Given the description of an element on the screen output the (x, y) to click on. 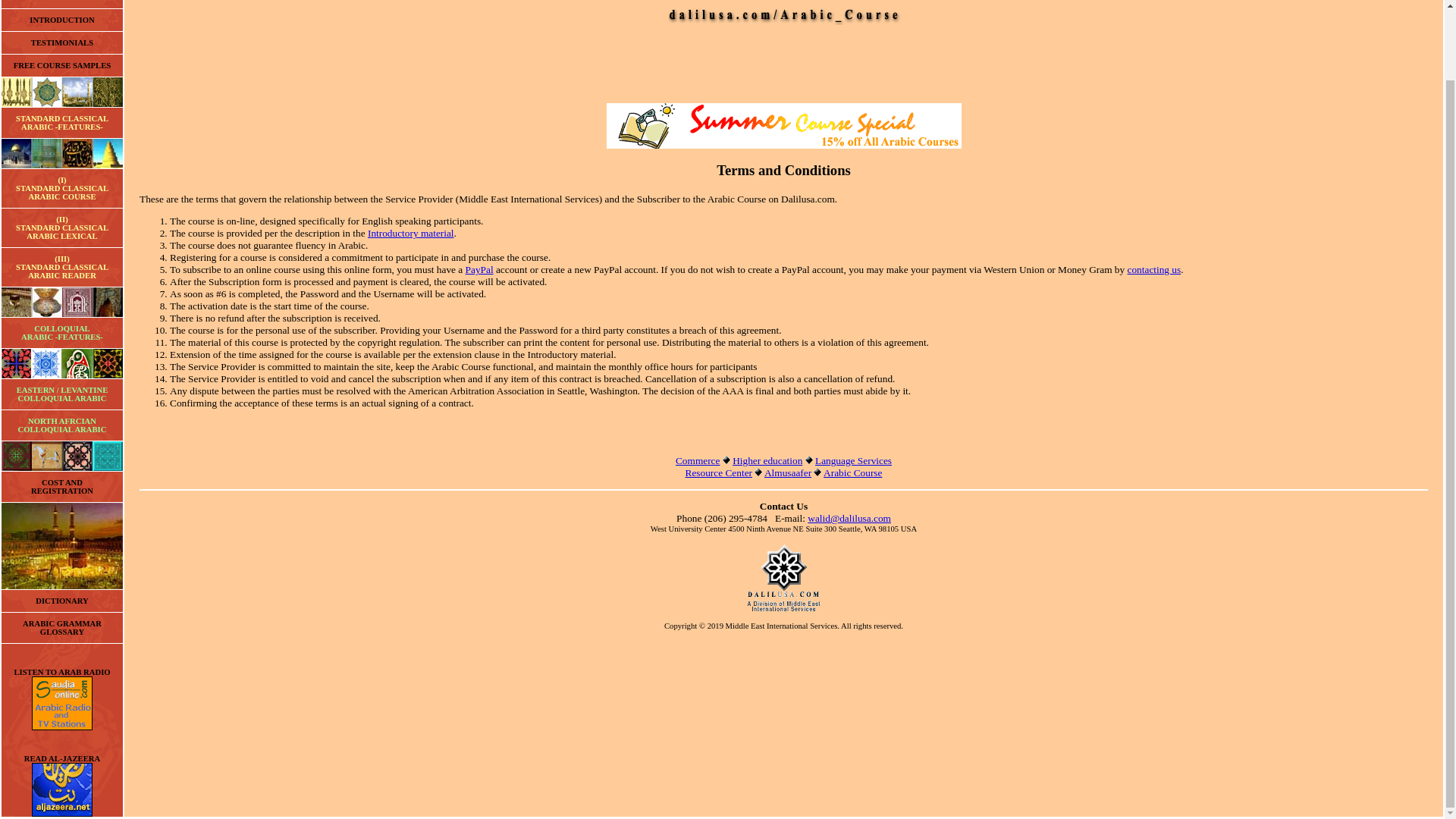
ARABIC GRAMMAR GLOSSARY (61, 486)
Introductory material (62, 627)
Higher education (411, 233)
TESTIMONIALS (767, 460)
contacting us (61, 42)
PayPal (1153, 269)
Resource Center (479, 269)
NORTH AFRCIAN COLLOQUIAL ARABIC (61, 122)
